Given the description of an element on the screen output the (x, y) to click on. 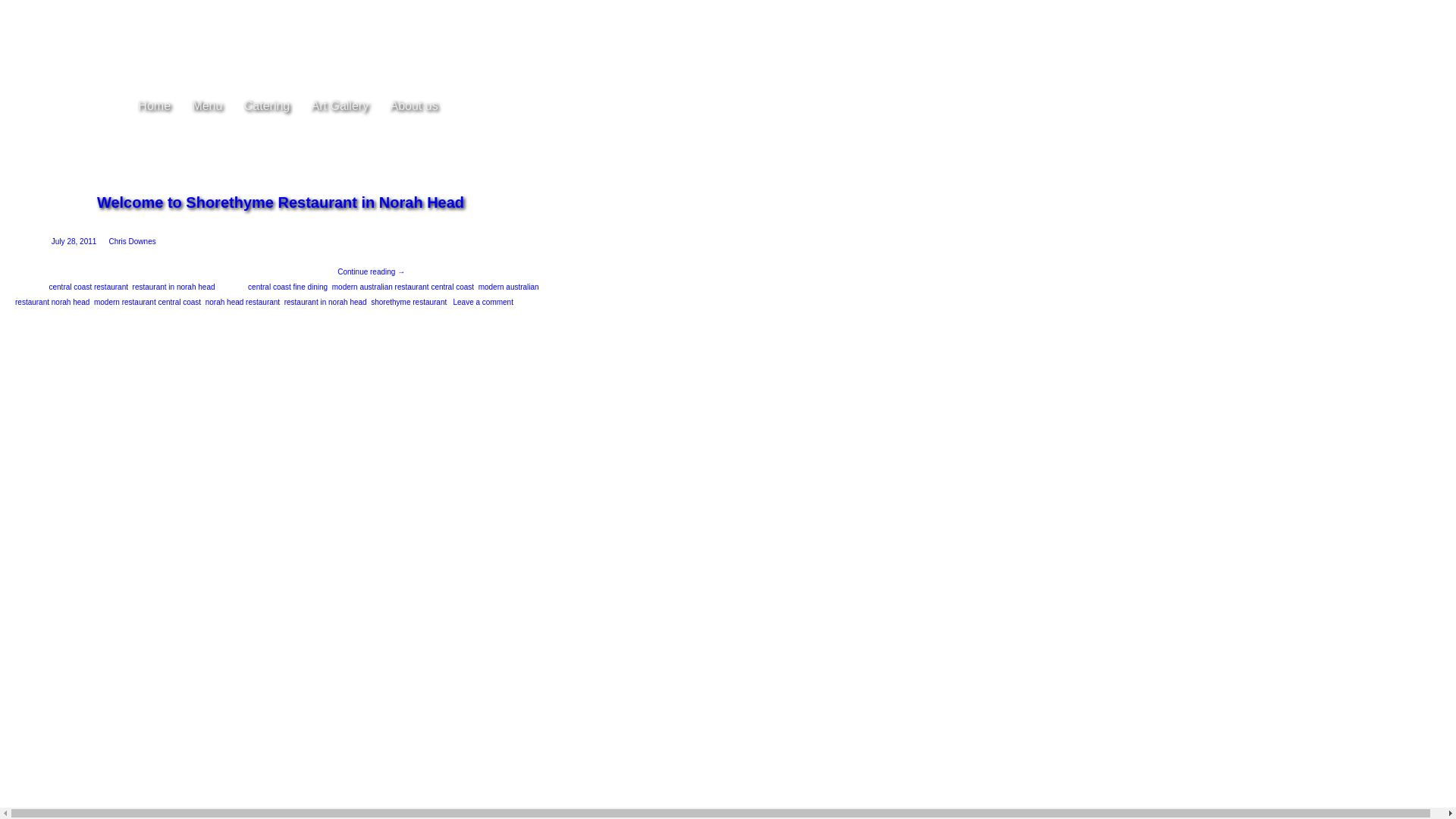
restaurant in norah head Element type: text (325, 302)
Home Element type: text (154, 104)
Leave a comment Element type: text (482, 302)
Welcome to Shorethyme Restaurant in Norah Head Element type: text (280, 202)
Menu Element type: text (206, 104)
Chris Downes Element type: text (131, 241)
July 28, 2011 Element type: text (74, 241)
About us Element type: text (413, 104)
norah head restaurant Element type: text (242, 302)
restaurant in norah head Element type: text (173, 286)
shorethyme restaurant Element type: text (408, 302)
modern restaurant central coast Element type: text (147, 302)
Art Gallery Element type: text (340, 104)
modern australian restaurant central coast Element type: text (402, 286)
Electric Mayhem Solutions Element type: text (368, 578)
ShoreThyme Restaurant Element type: text (280, 71)
modern australian restaurant norah head Element type: text (277, 294)
central coast fine dining Element type: text (287, 286)
central coast restaurant Element type: text (88, 286)
Catering Element type: text (266, 104)
